Given the description of an element on the screen output the (x, y) to click on. 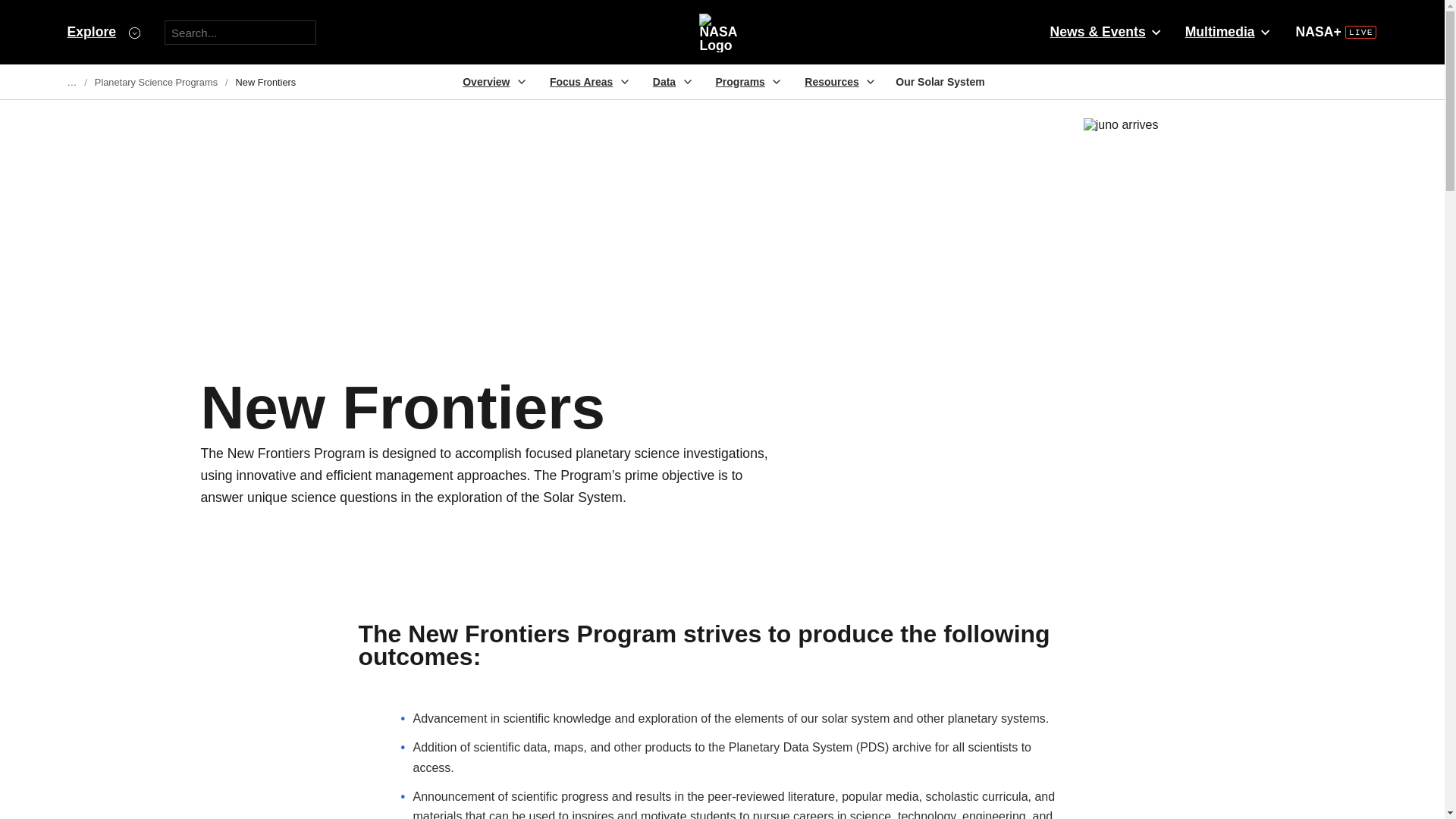
Planetary Science Programs (155, 81)
